Given the description of an element on the screen output the (x, y) to click on. 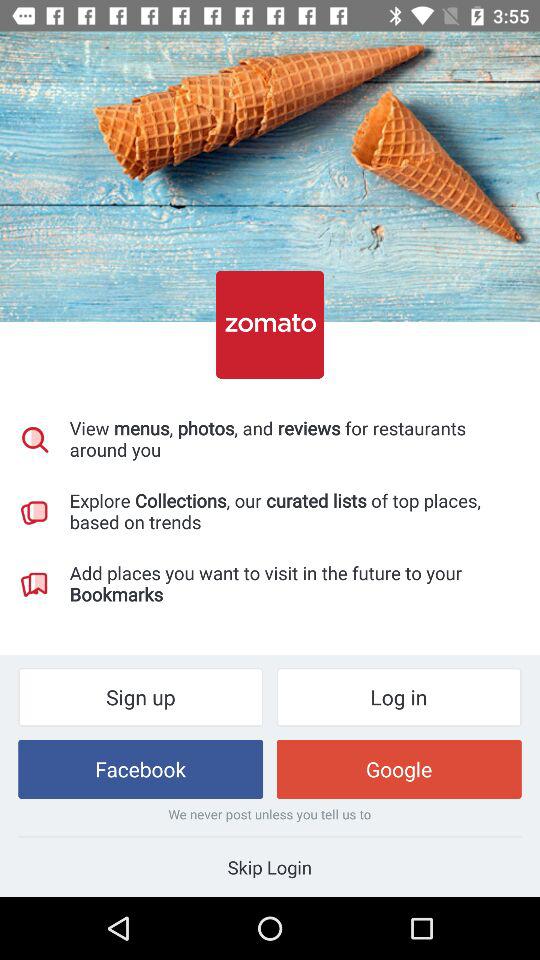
open the icon above the google icon (398, 696)
